Given the description of an element on the screen output the (x, y) to click on. 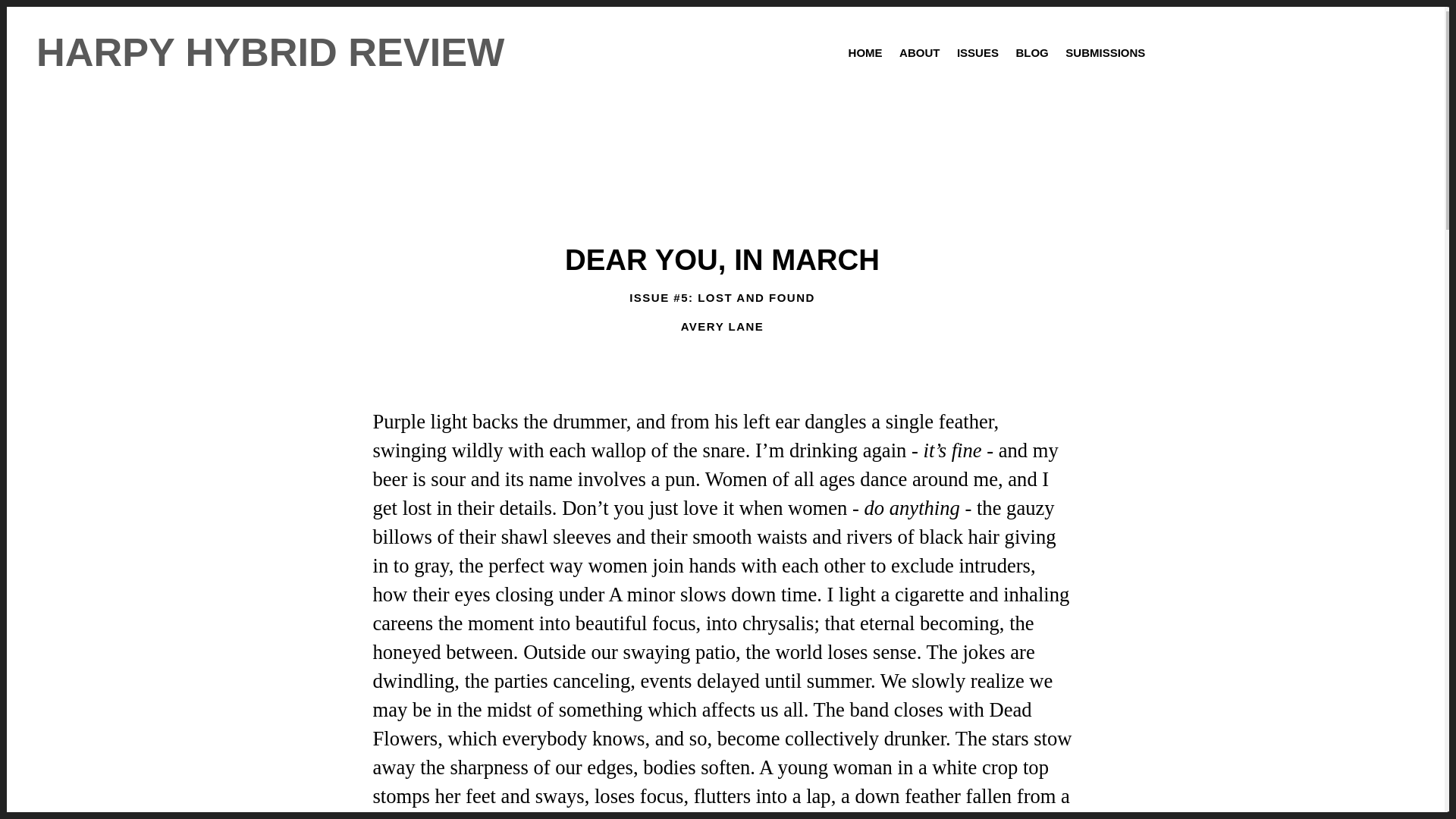
ABOUT (920, 52)
BLOG (1032, 52)
SUBMISSIONS (1105, 52)
ISSUES (978, 52)
HARPY HYBRID REVIEW (269, 52)
HOME (865, 52)
